Given the description of an element on the screen output the (x, y) to click on. 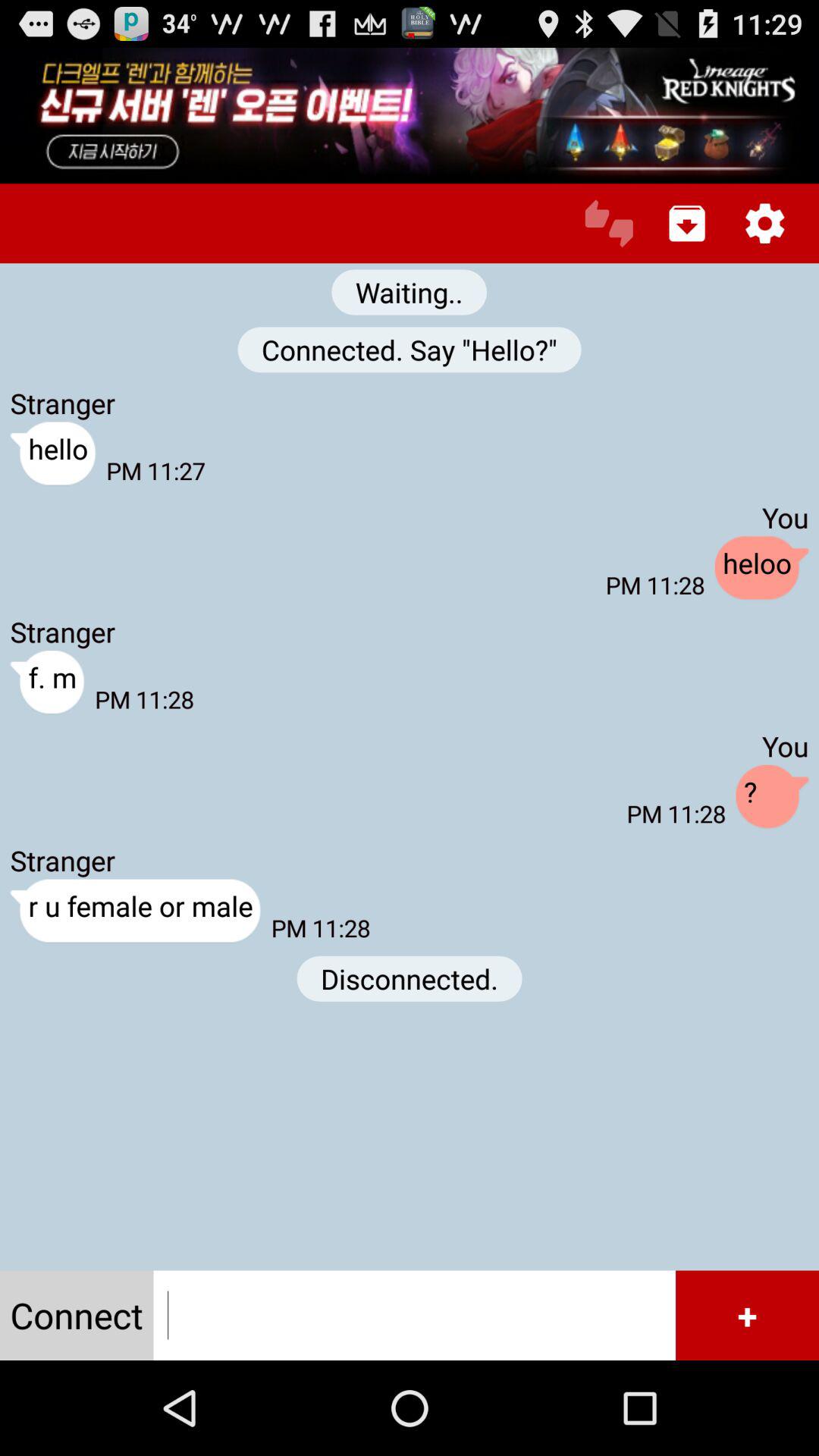
rate option (609, 223)
